Given the description of an element on the screen output the (x, y) to click on. 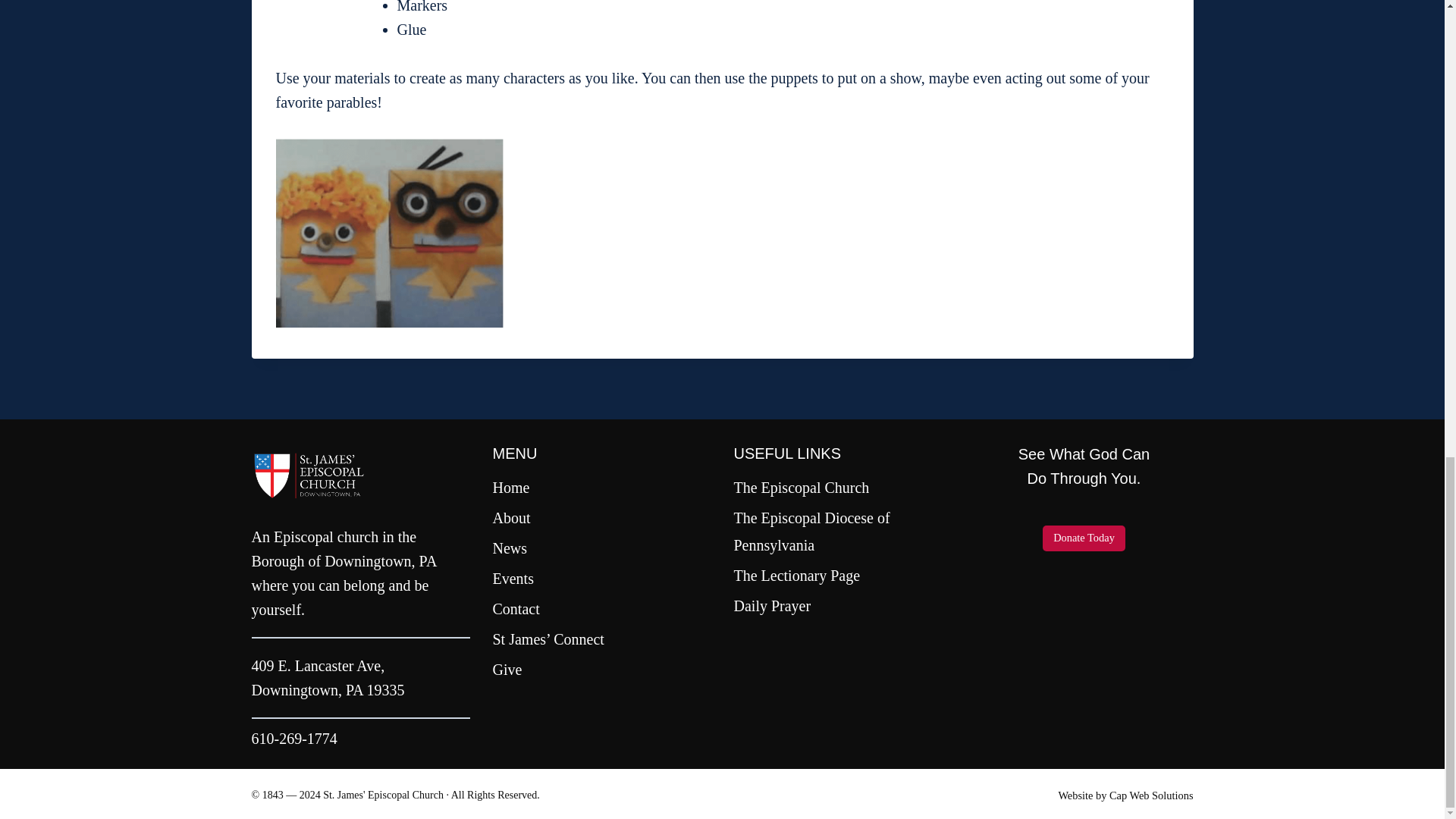
Daily Prayer (842, 605)
The Lectionary Page (842, 575)
About (602, 517)
News (602, 548)
Donate Today (1083, 538)
610-269-1774 (294, 738)
St. James' Episcopal Church (383, 794)
Home (602, 487)
Give (602, 669)
Events (602, 578)
The Episcopal Diocese of Pennsylvania (842, 531)
